Given the description of an element on the screen output the (x, y) to click on. 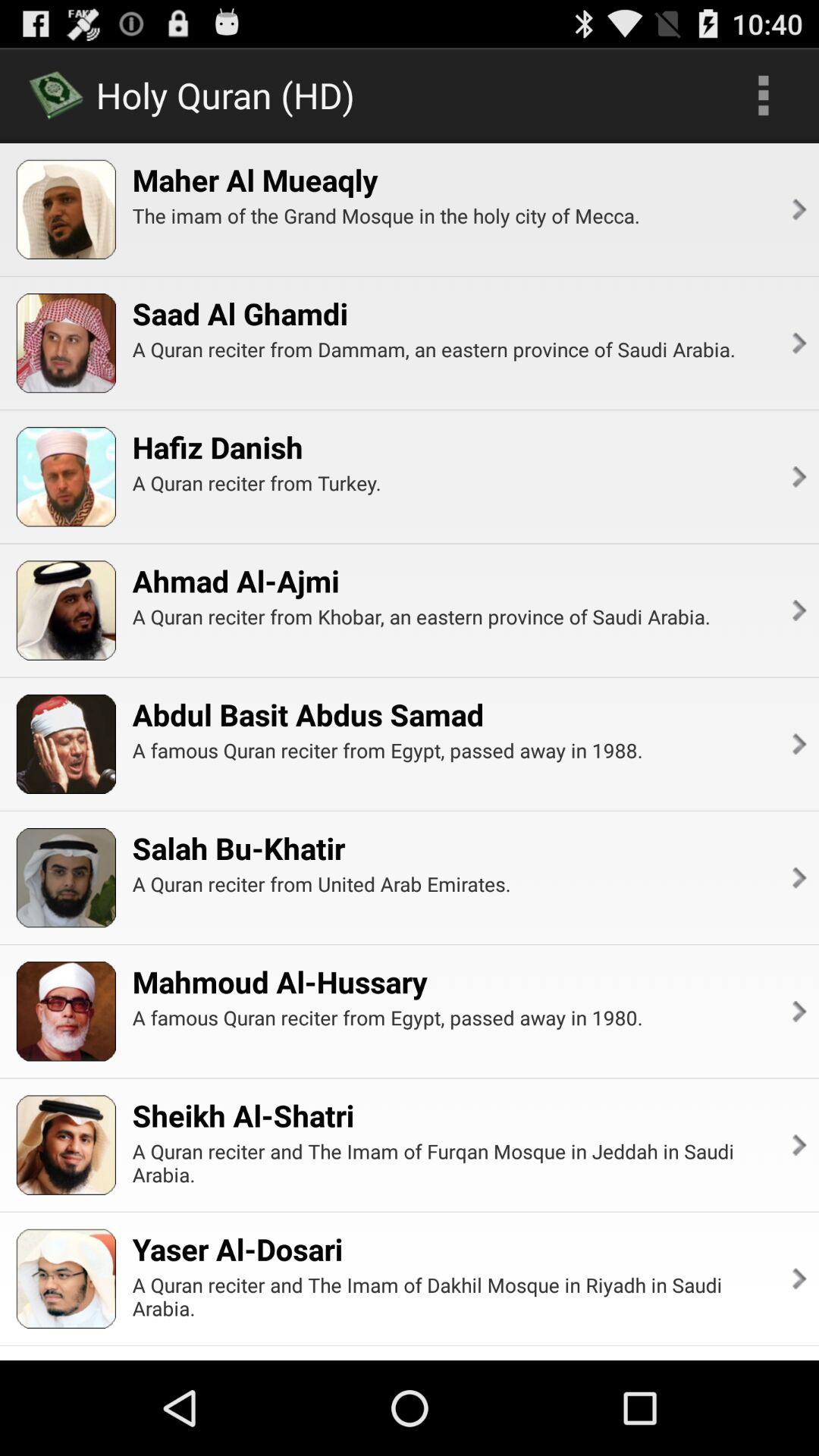
click the app below a famous quran icon (797, 1144)
